Given the description of an element on the screen output the (x, y) to click on. 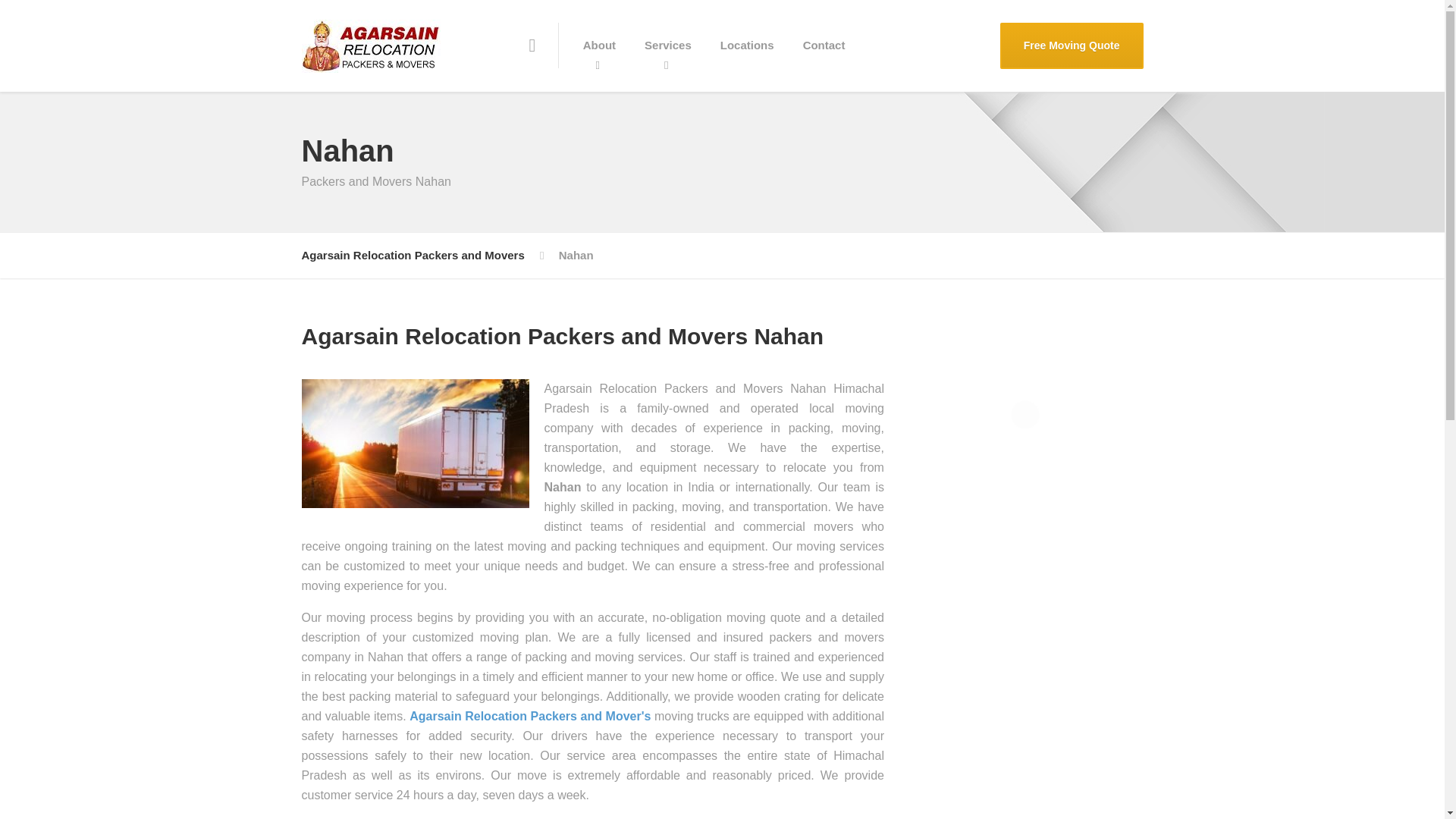
Go to Agarsain Relocation Packers and Movers. (412, 255)
Agarsain Relocation Packers and Movers (412, 255)
Free Moving Quote (1071, 45)
Locations (747, 45)
Agarsain Relocation Packers and Mover's (529, 716)
